Given the description of an element on the screen output the (x, y) to click on. 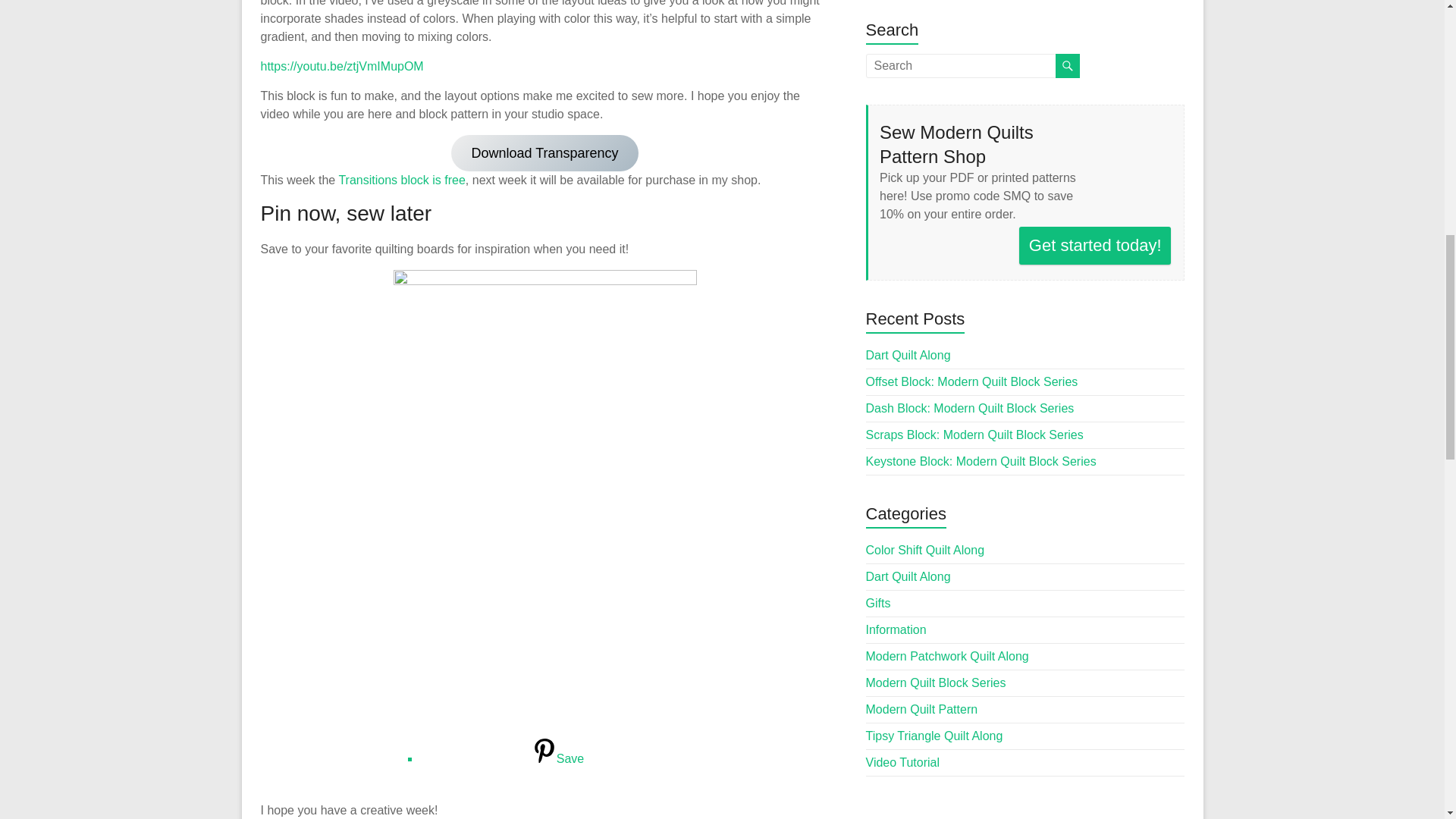
Transitions block is free (400, 179)
Download Transparency (544, 153)
Get started today! (1094, 245)
